Given the description of an element on the screen output the (x, y) to click on. 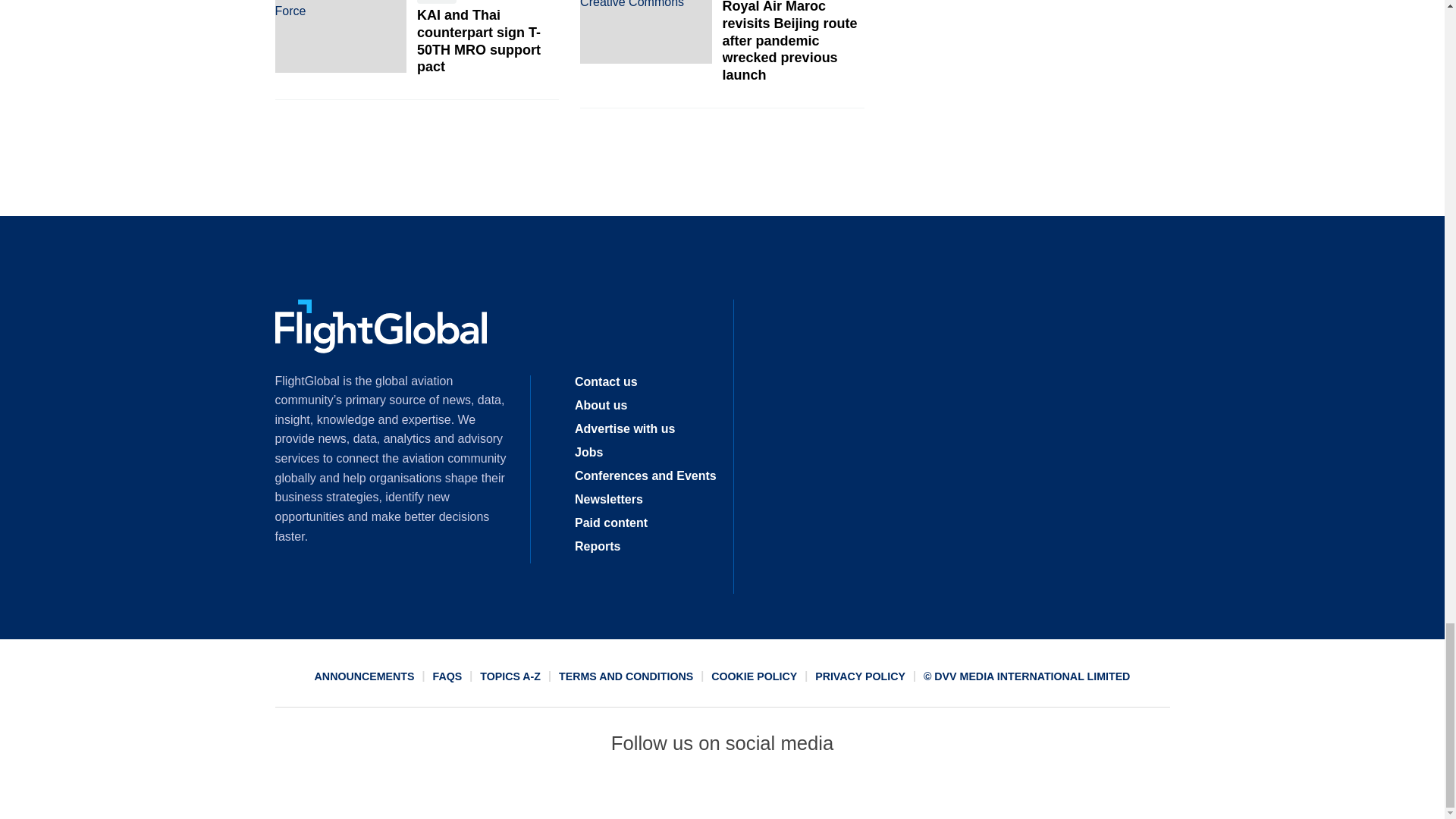
Connect with us on Twitter (667, 791)
Connect with us on Facebook (611, 791)
Email us (776, 791)
Connect with us on Linked In (721, 791)
Connect with us on Youtube (831, 791)
